Given the description of an element on the screen output the (x, y) to click on. 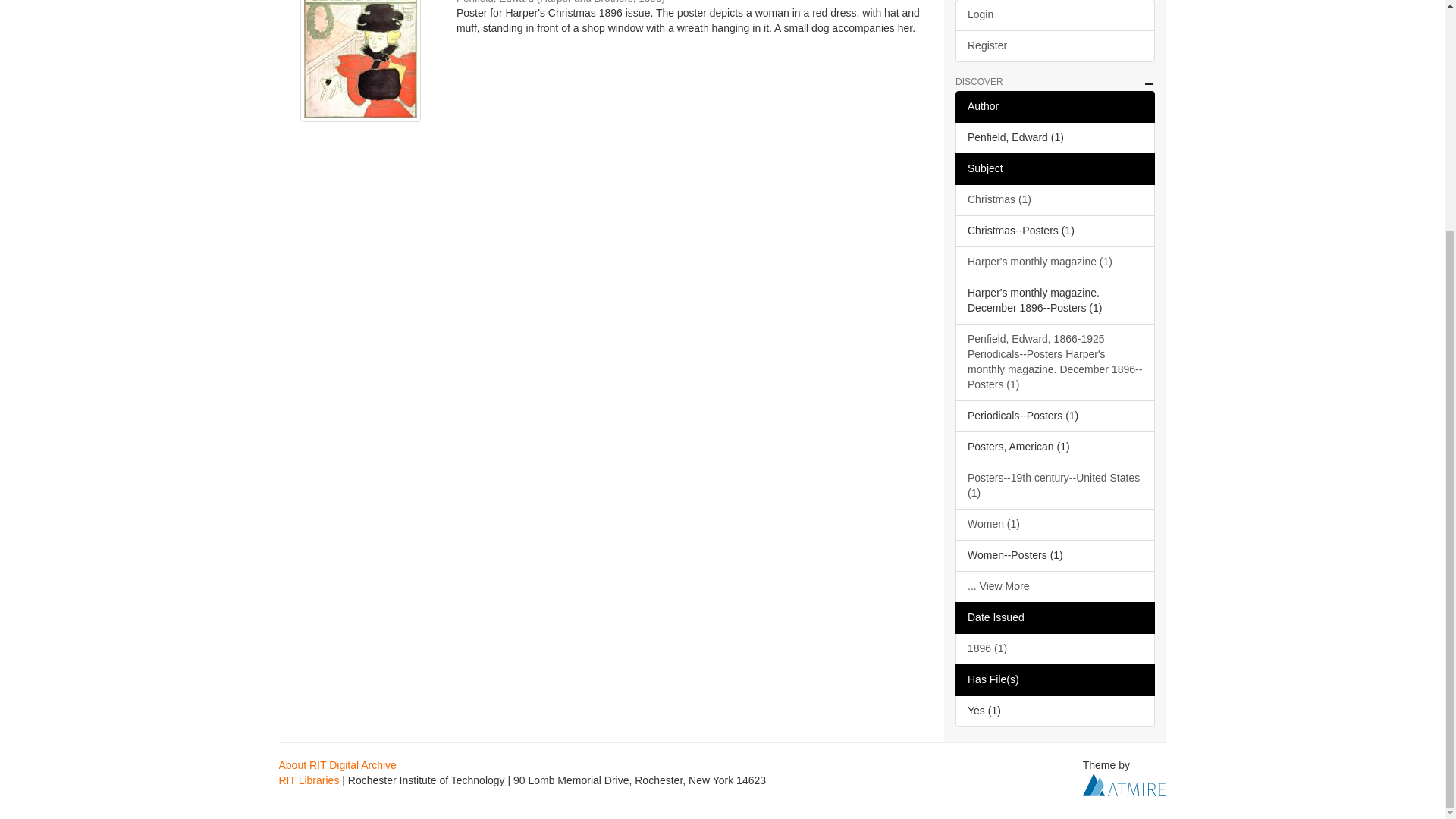
Atmire NV (1124, 784)
